Given the description of an element on the screen output the (x, y) to click on. 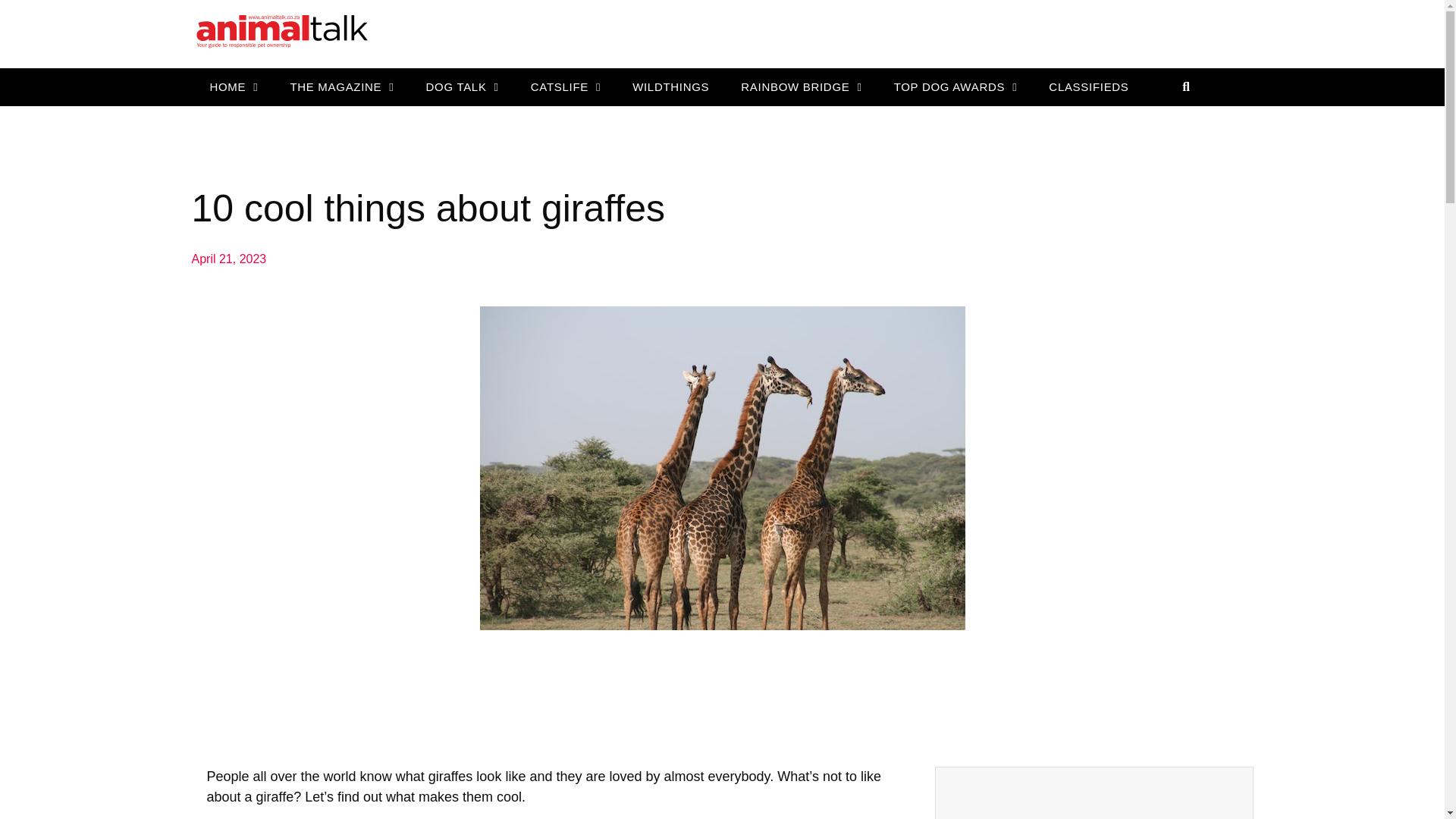
THE MAGAZINE (342, 86)
WILDTHINGS (670, 86)
TOP DOG AWARDS (955, 86)
DOG TALK (462, 86)
CATSLIFE (565, 86)
HOME (232, 86)
RAINBOW BRIDGE (801, 86)
